Given the description of an element on the screen output the (x, y) to click on. 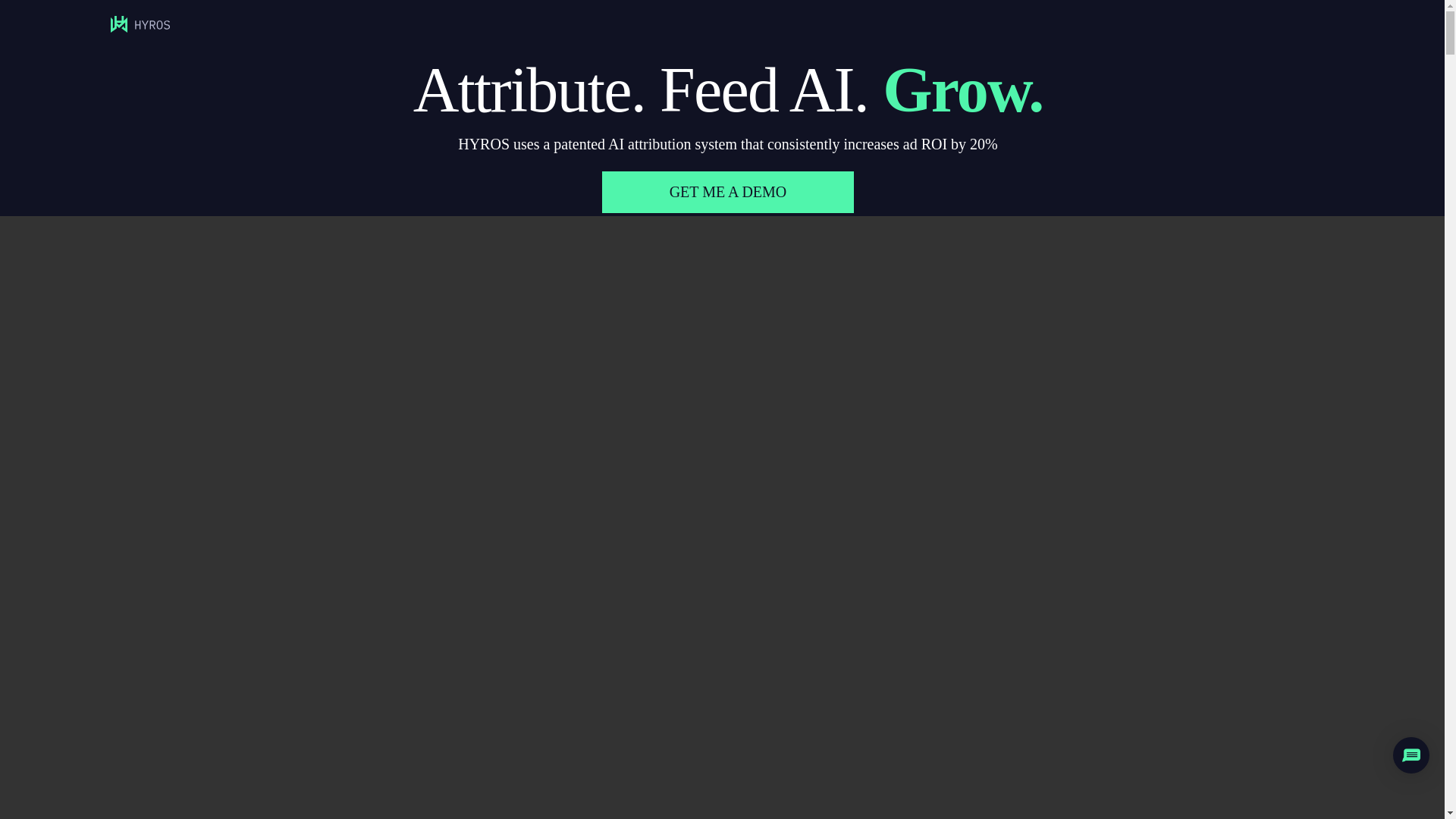
GET ME A DEMO (728, 191)
